Given the description of an element on the screen output the (x, y) to click on. 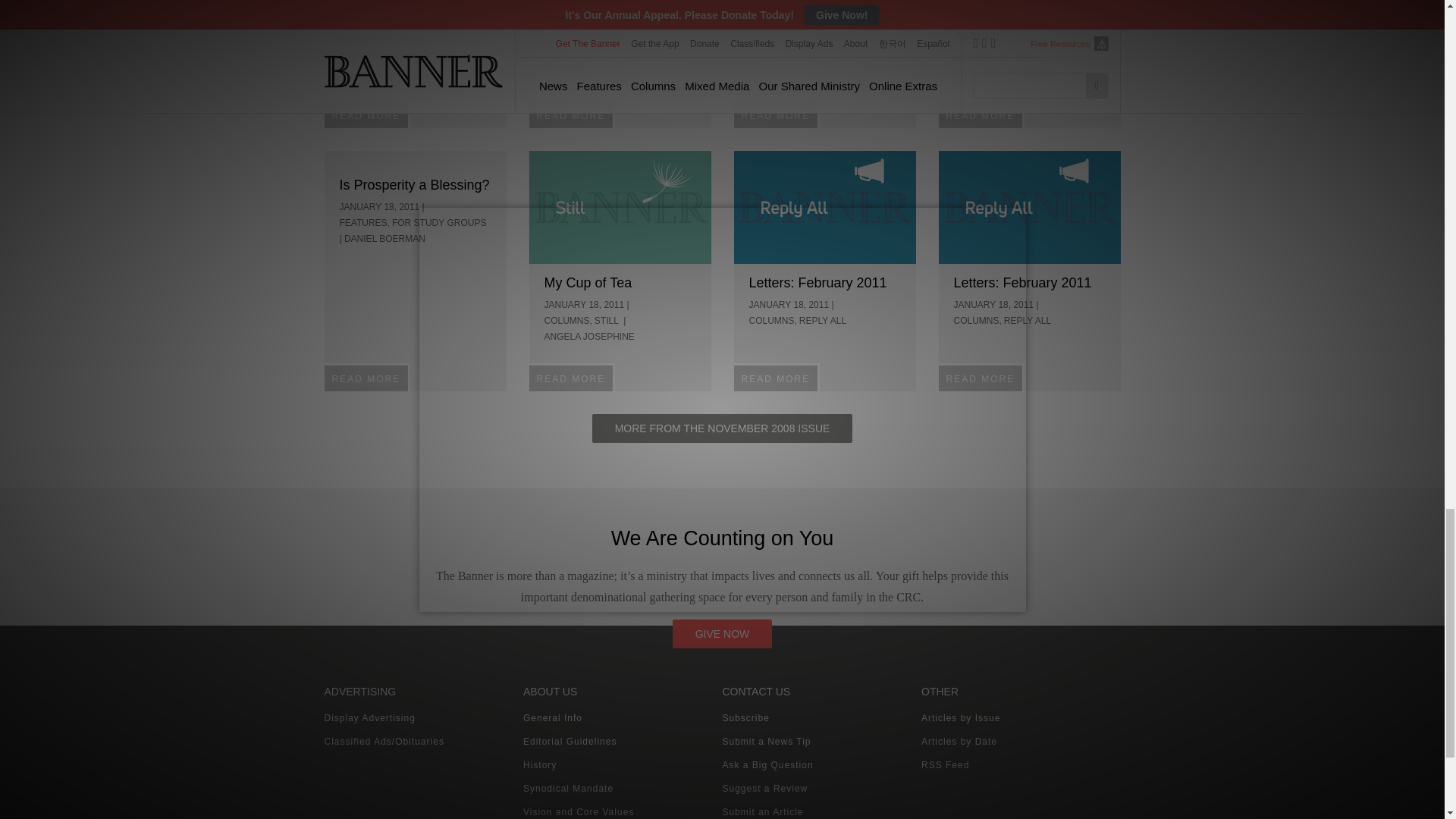
DISCOVER (1027, 72)
READ MORE (777, 113)
Punch Lines (376, 19)
POINT OF VIEW (424, 56)
COLUMNS, (772, 320)
Is Prosperity a Blessing? (414, 184)
ANGELA JOSEPHINE (589, 336)
STILL (606, 320)
READ MORE (982, 113)
IMAGE: (824, 206)
IMAGE: (620, 206)
READ MORE (572, 377)
